Given the description of an element on the screen output the (x, y) to click on. 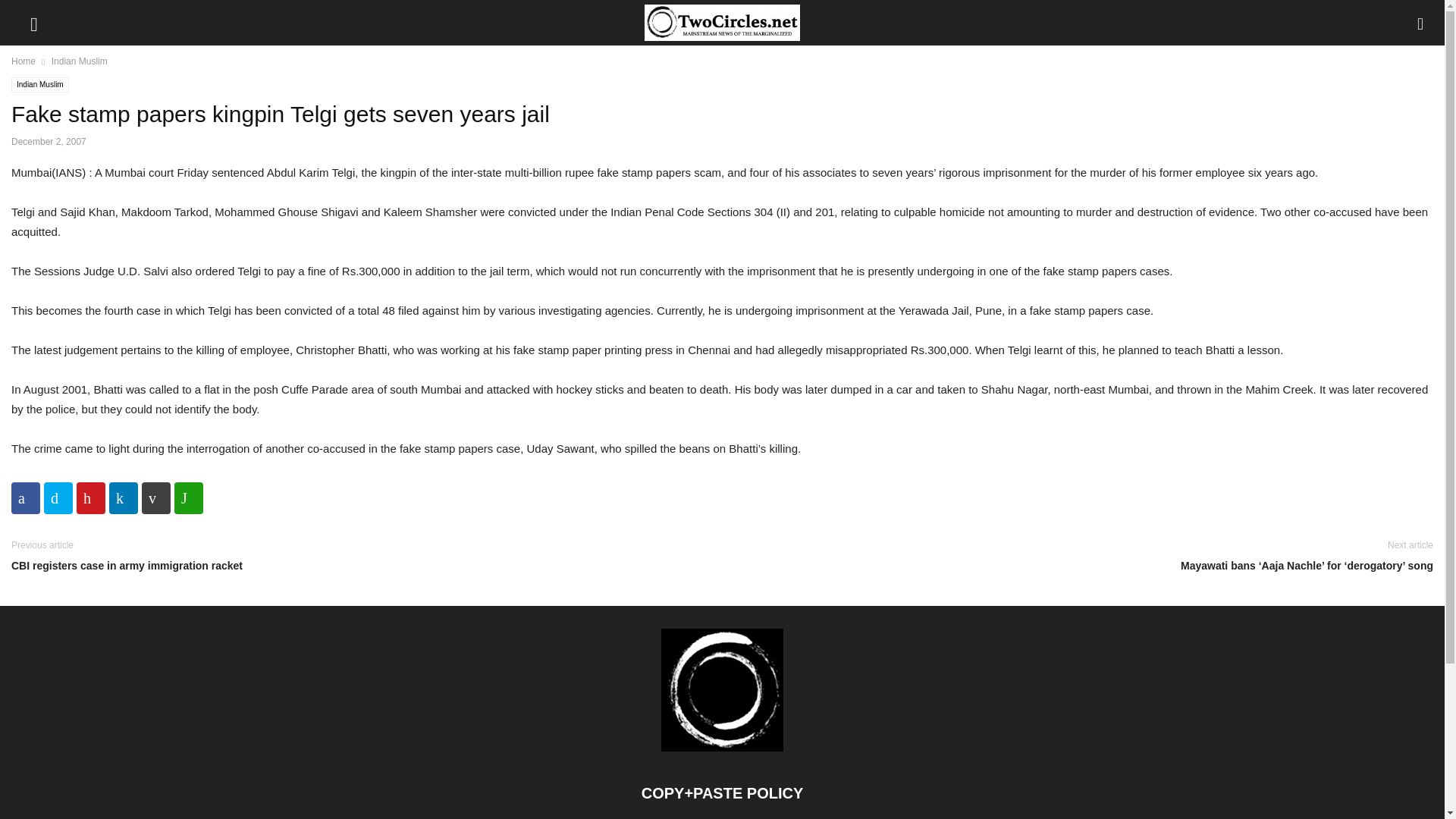
Share on LinkedIn (123, 498)
Share on Pinterest (90, 498)
Search (26, 11)
Share on WhatsApp (188, 498)
CBI registers case in army immigration racket (362, 565)
View all posts in Indian Muslim (78, 61)
Share on Email (155, 498)
Home (22, 61)
Share on Facebook (25, 498)
Share on Twitter (57, 498)
